Given the description of an element on the screen output the (x, y) to click on. 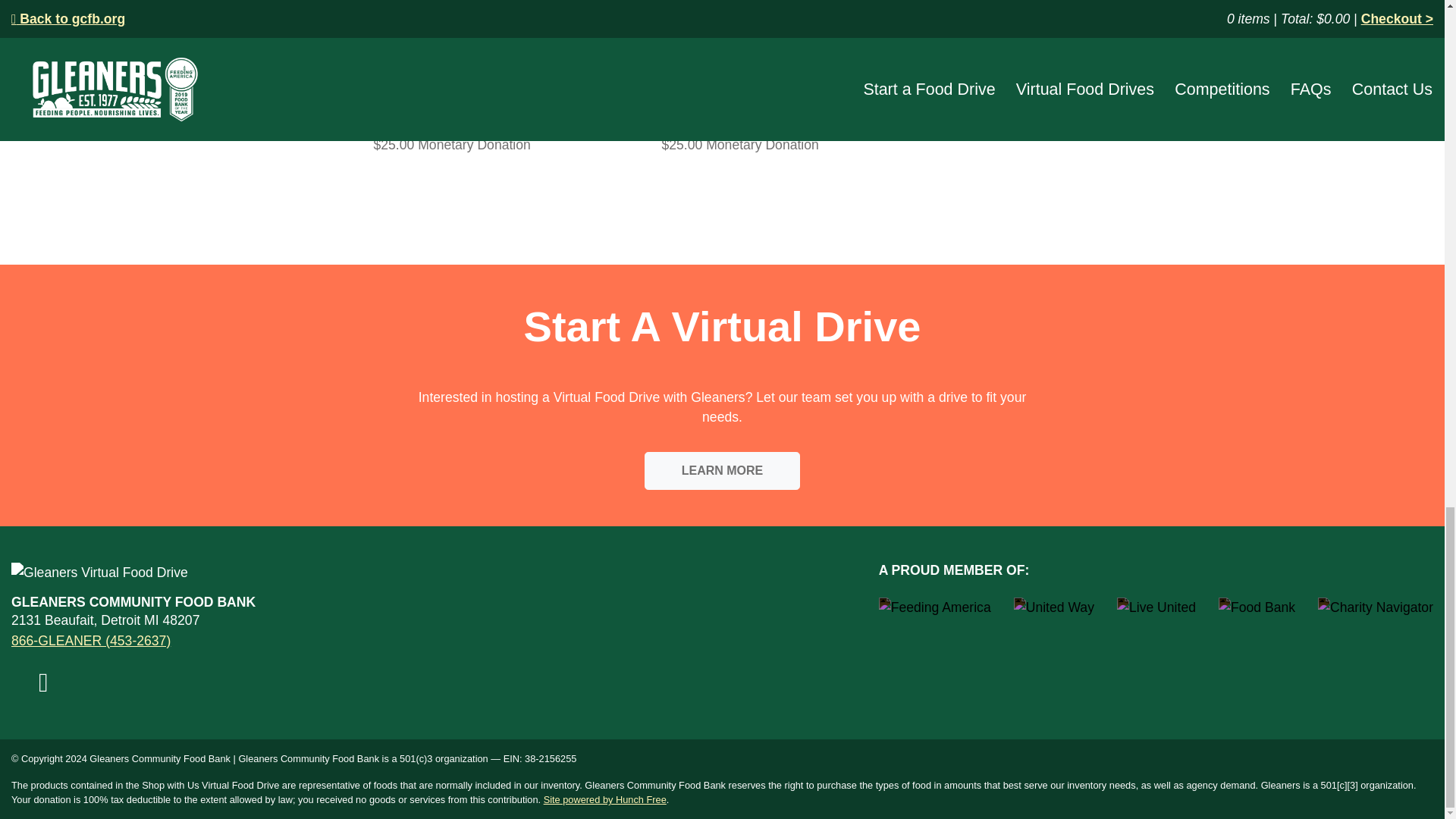
LEARN MORE (722, 470)
Site powered by Hunch Free (604, 799)
